Given the description of an element on the screen output the (x, y) to click on. 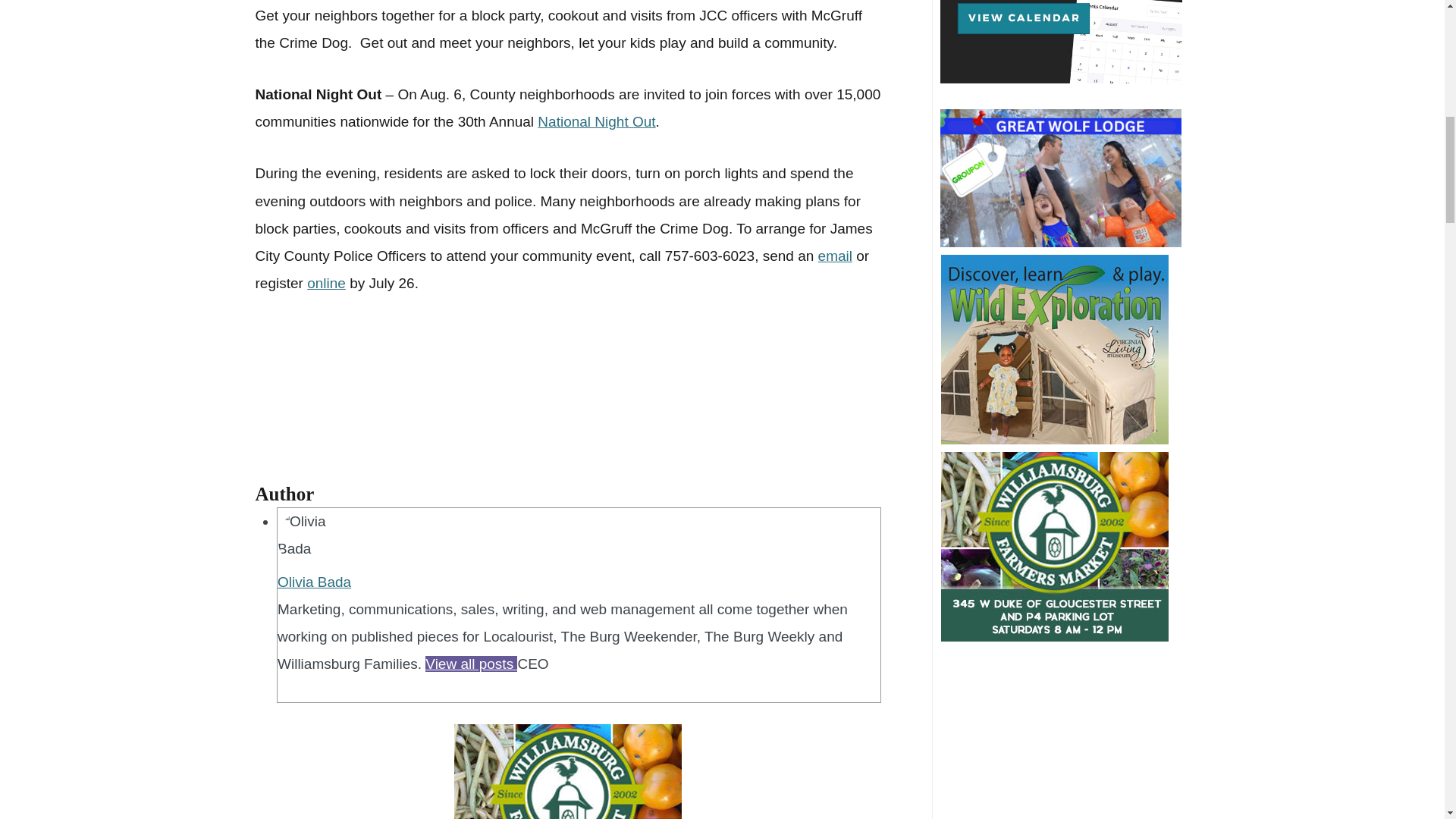
View all posts (470, 663)
Olivia Bada (314, 581)
